Given the description of an element on the screen output the (x, y) to click on. 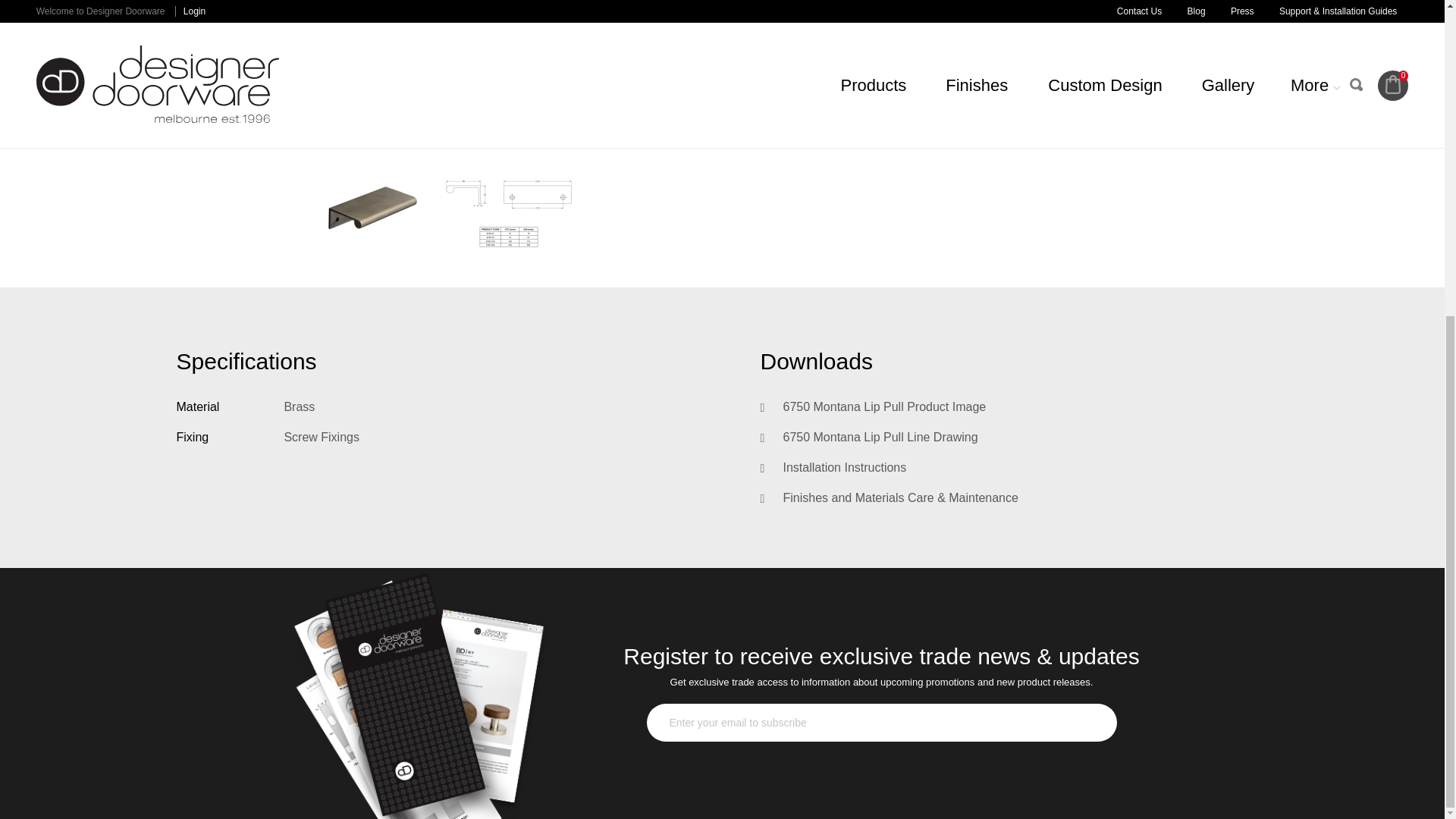
Help (995, 63)
NEED HELP? (995, 63)
Configure (994, 4)
